Given the description of an element on the screen output the (x, y) to click on. 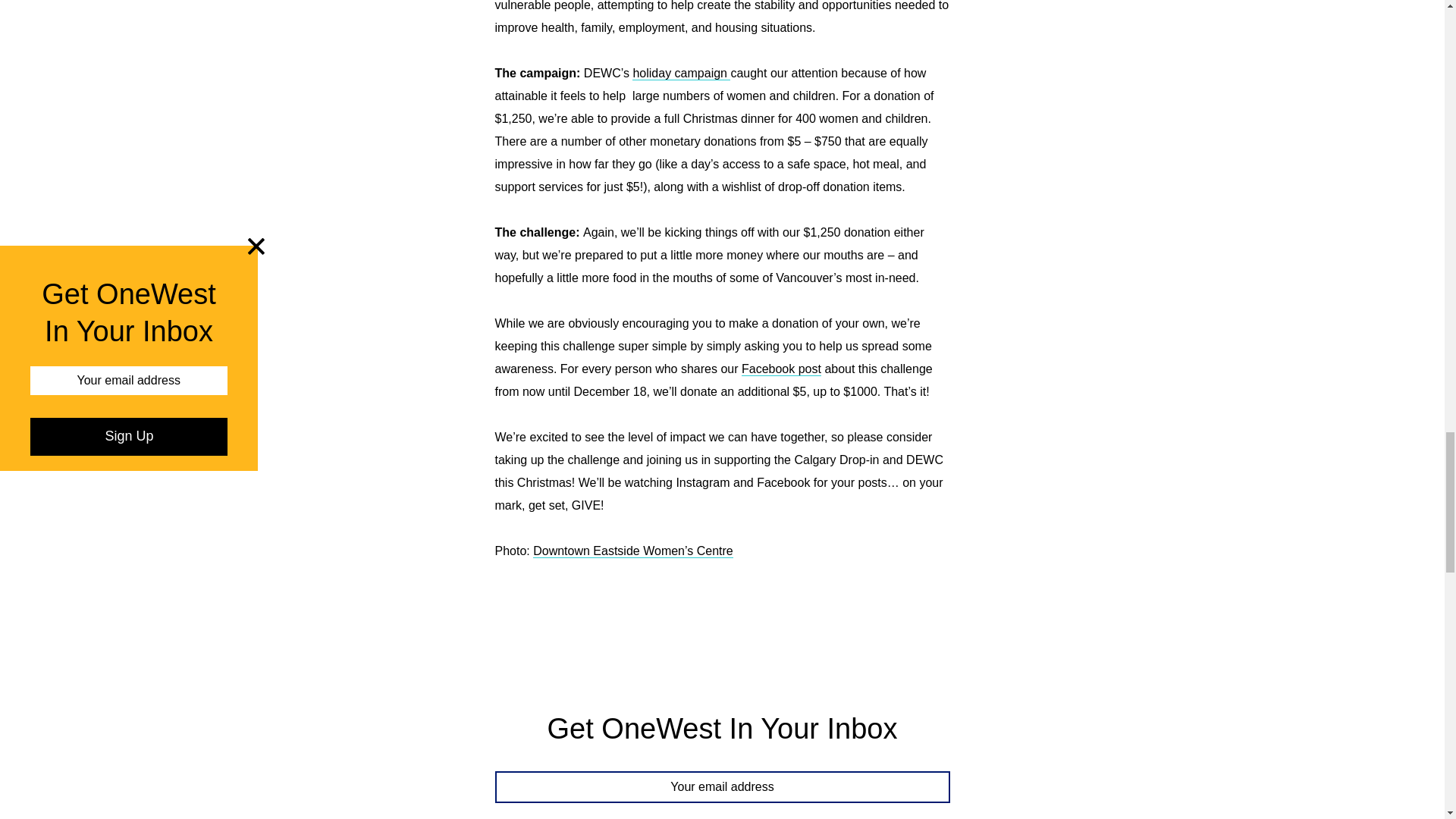
Facebook post (781, 368)
holiday campaign (680, 73)
